Given the description of an element on the screen output the (x, y) to click on. 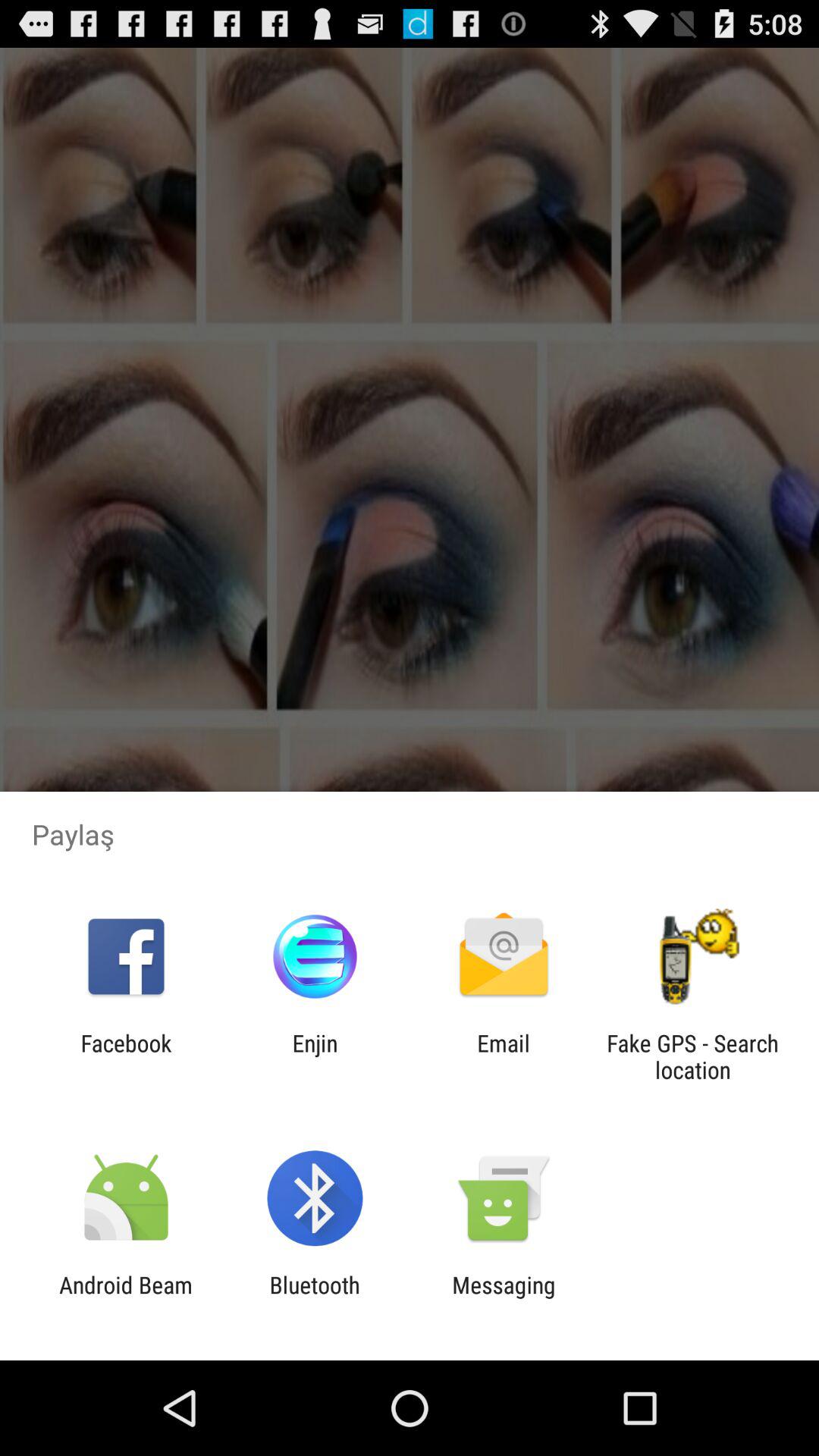
click the app next to the fake gps search item (503, 1056)
